Given the description of an element on the screen output the (x, y) to click on. 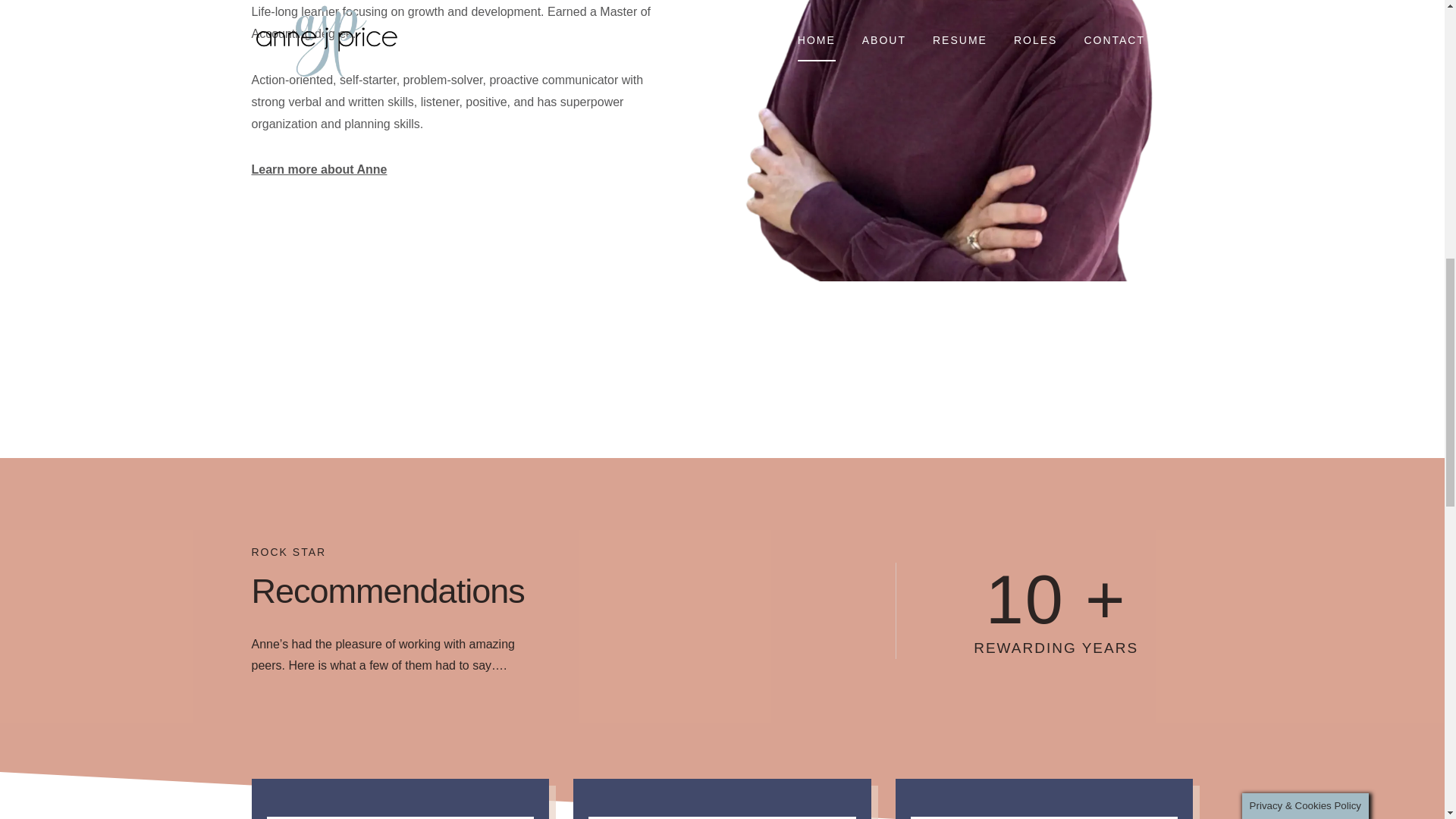
Learn more about Anne (319, 169)
